Given the description of an element on the screen output the (x, y) to click on. 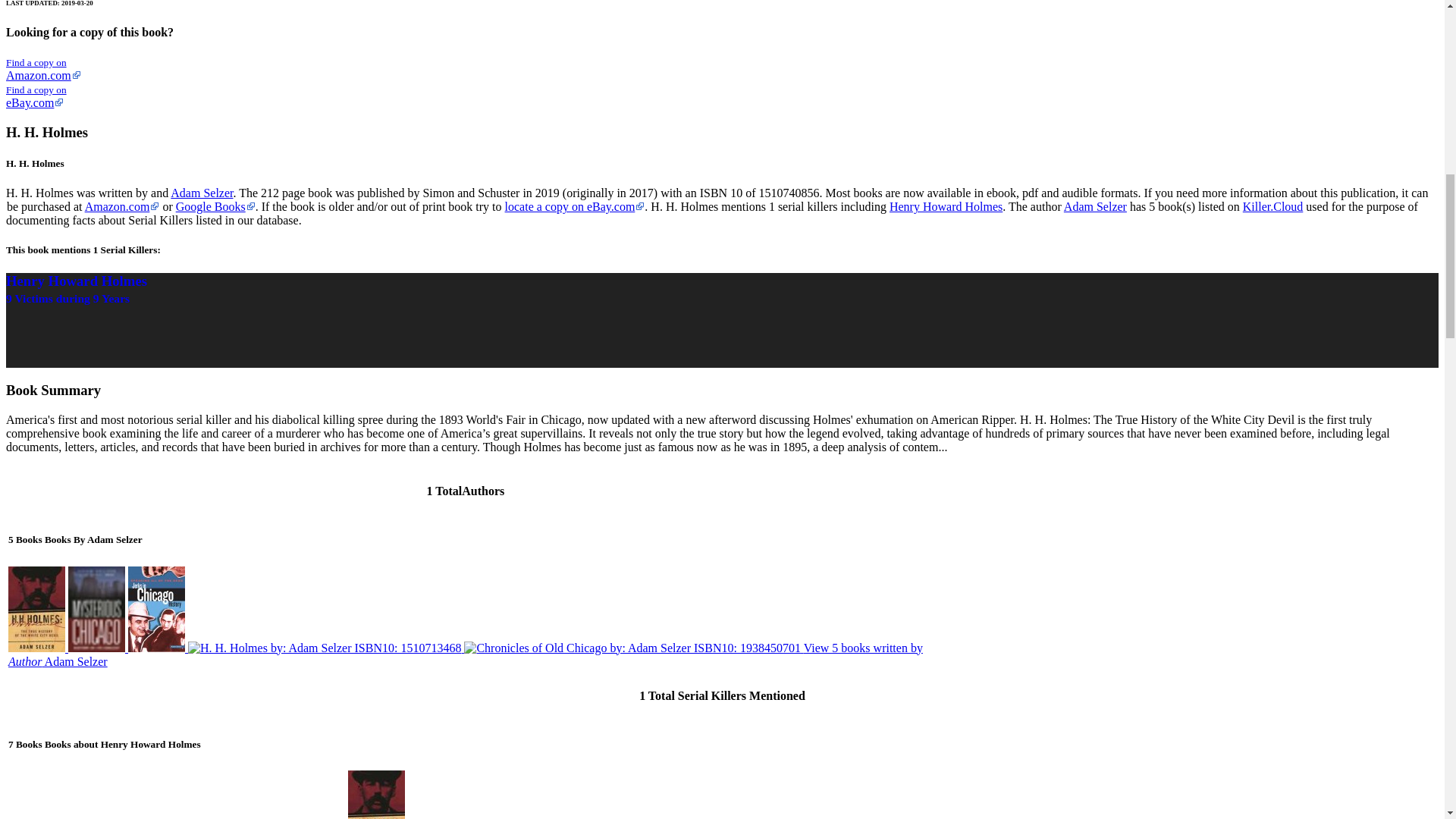
locate a copy on eBay.com (575, 205)
Adam Selzer (1095, 205)
Adam Selzer (201, 192)
Amazon.com (122, 205)
Google Books (216, 205)
Killer.Cloud (1273, 205)
Henry Howard Holmes (946, 205)
